Given the description of an element on the screen output the (x, y) to click on. 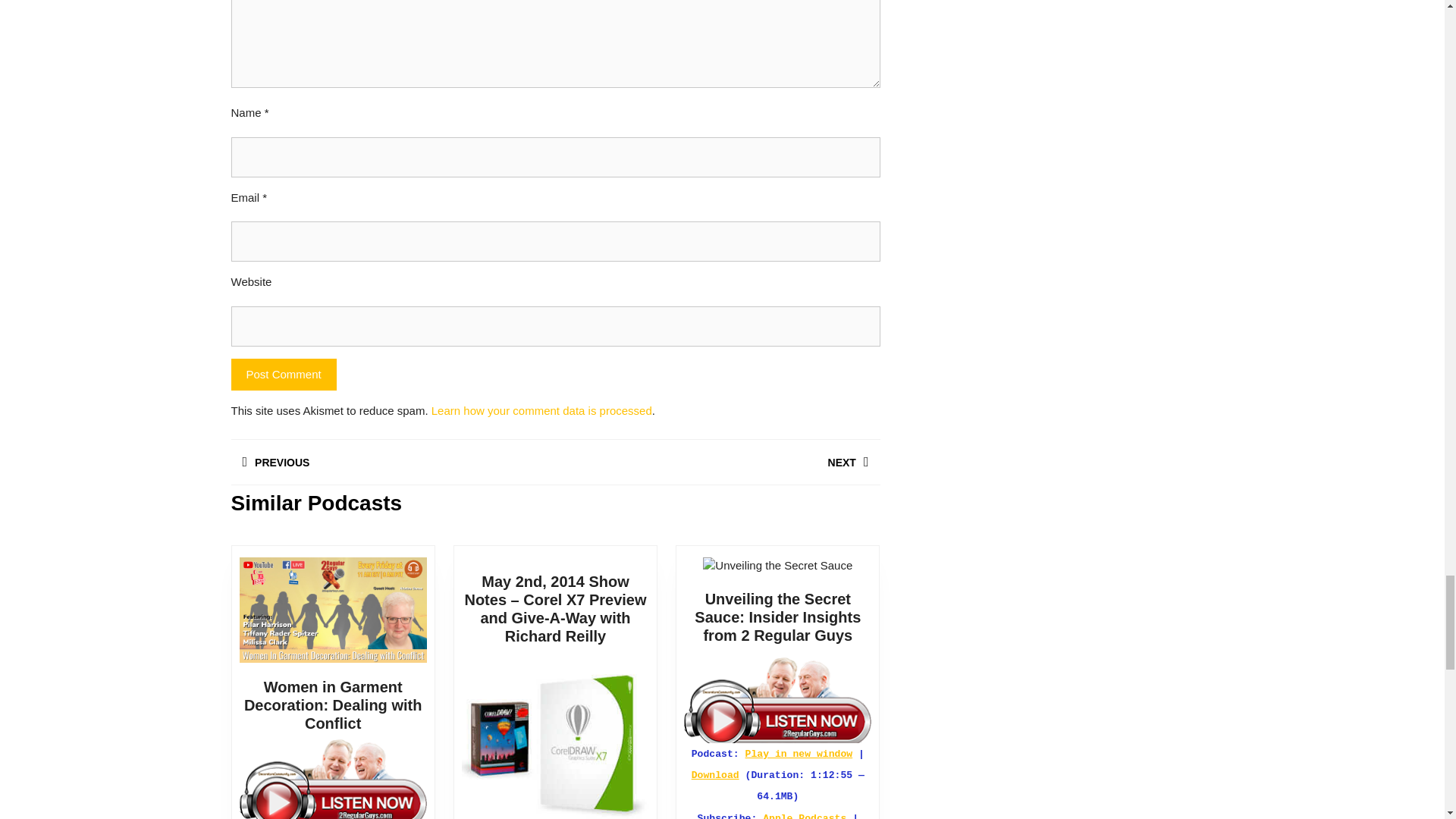
Play (333, 778)
Play in new window (799, 754)
Play (777, 699)
Download (715, 775)
Post Comment (283, 374)
Play (777, 699)
Play (333, 780)
